Given the description of an element on the screen output the (x, y) to click on. 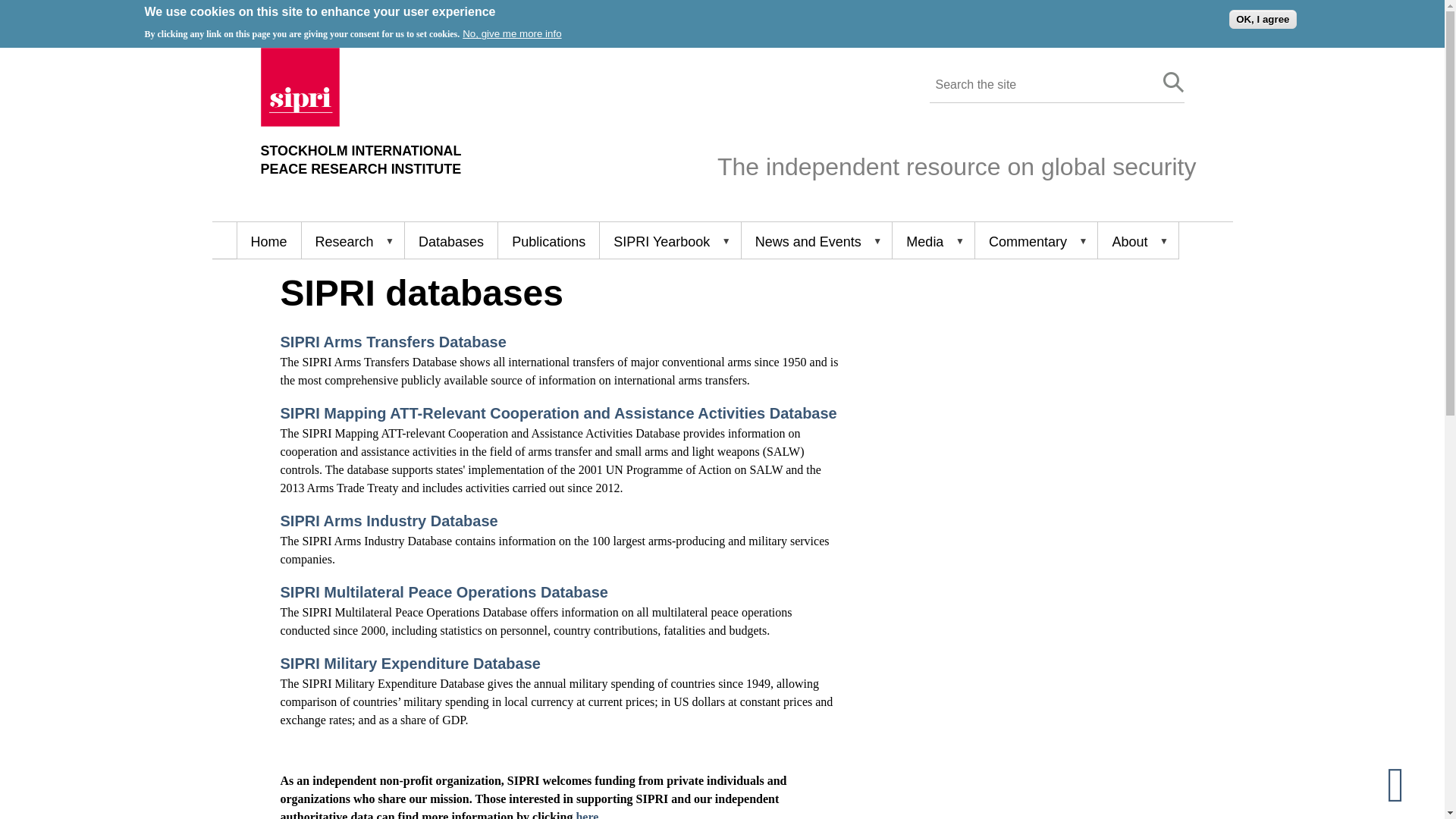
SIPRI's research (352, 240)
Home (299, 122)
Publications (547, 240)
SIPRI's databases (450, 240)
OK, I agree (1261, 18)
Home (267, 240)
No, give me more info (511, 33)
Search (1174, 82)
Home (360, 159)
